Given the description of an element on the screen output the (x, y) to click on. 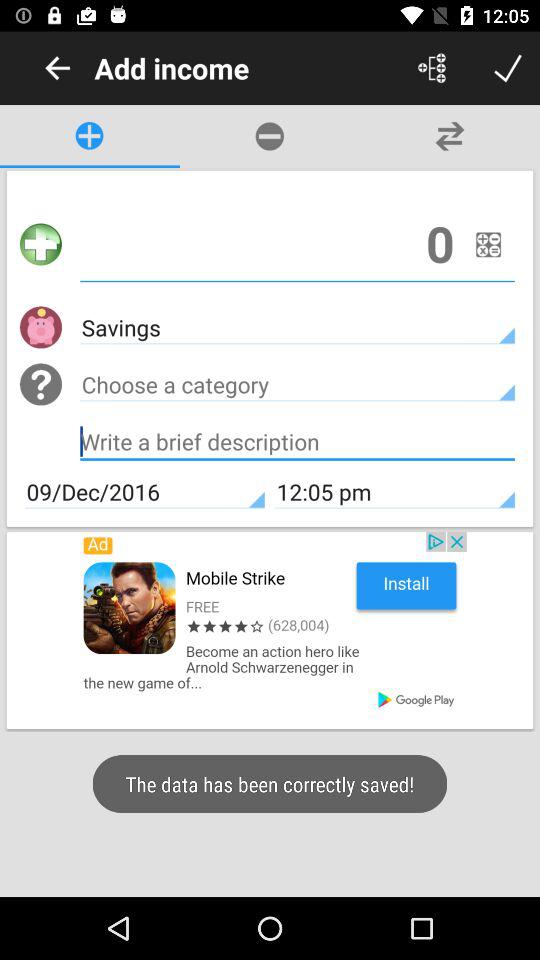
describe the topic (297, 444)
